Given the description of an element on the screen output the (x, y) to click on. 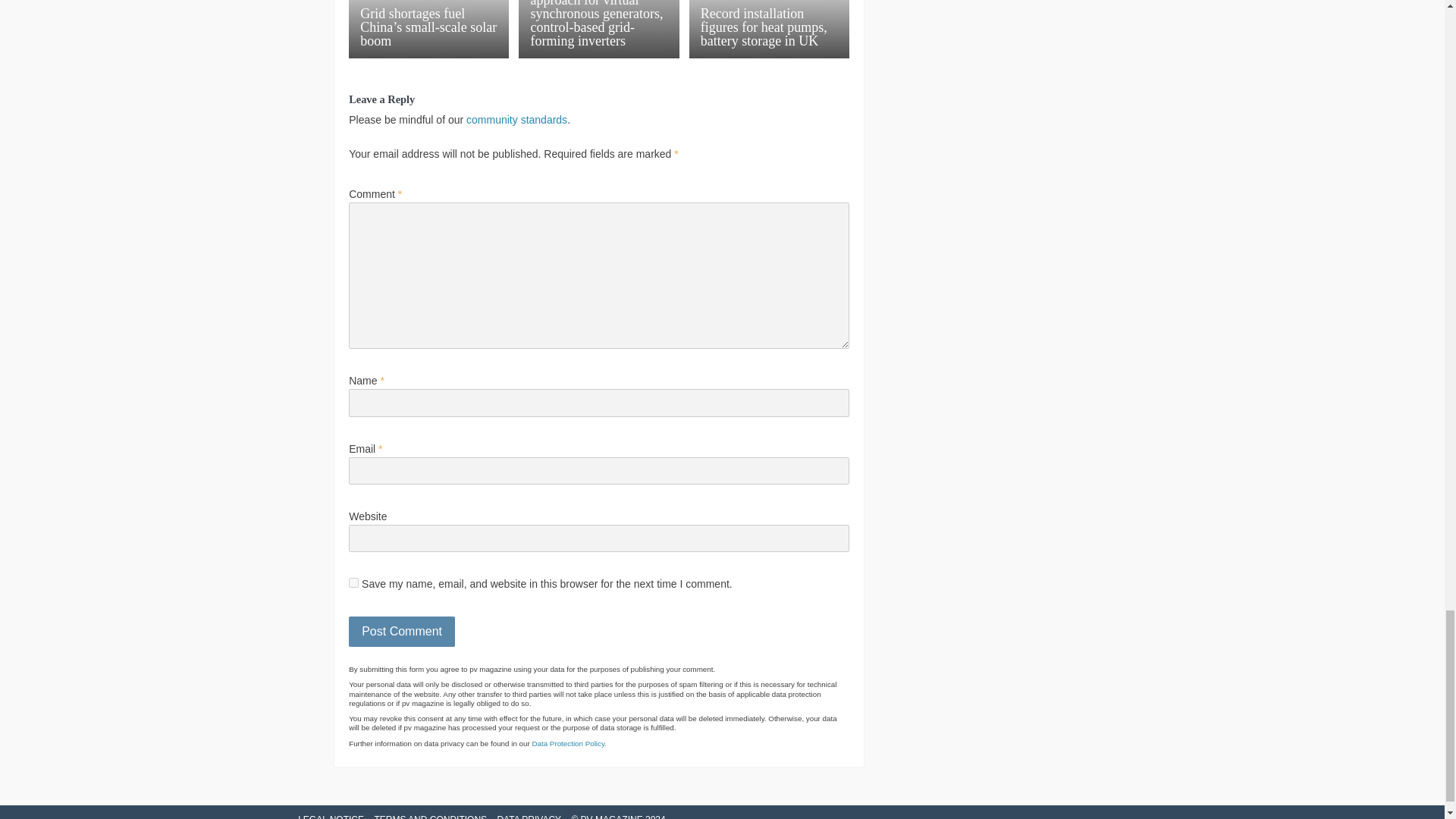
yes (353, 583)
Post Comment (401, 631)
